Given the description of an element on the screen output the (x, y) to click on. 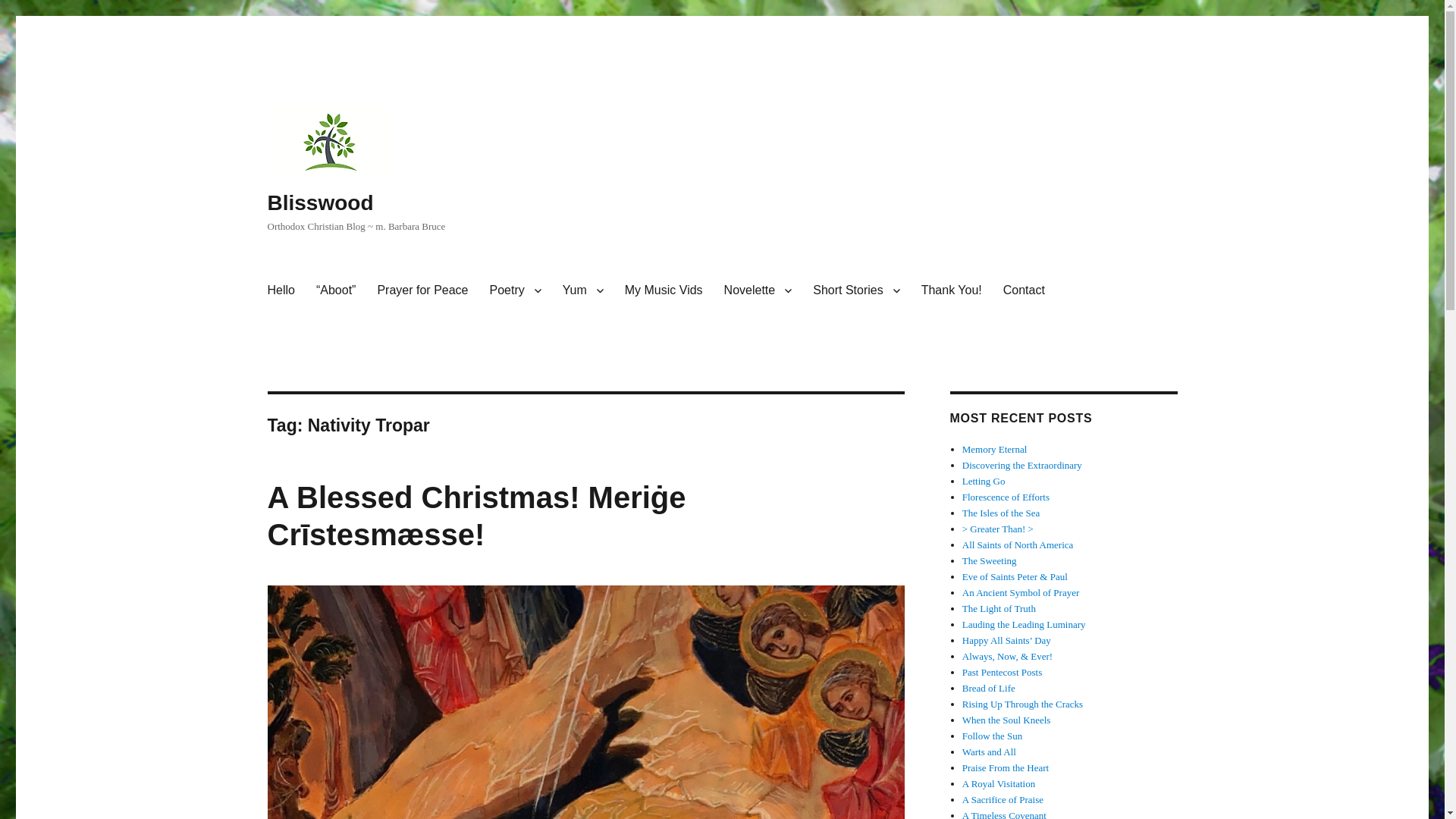
Poetry (515, 290)
Blisswood (319, 202)
Hello (280, 290)
Prayer for Peace (422, 290)
Yum (582, 290)
